Given the description of an element on the screen output the (x, y) to click on. 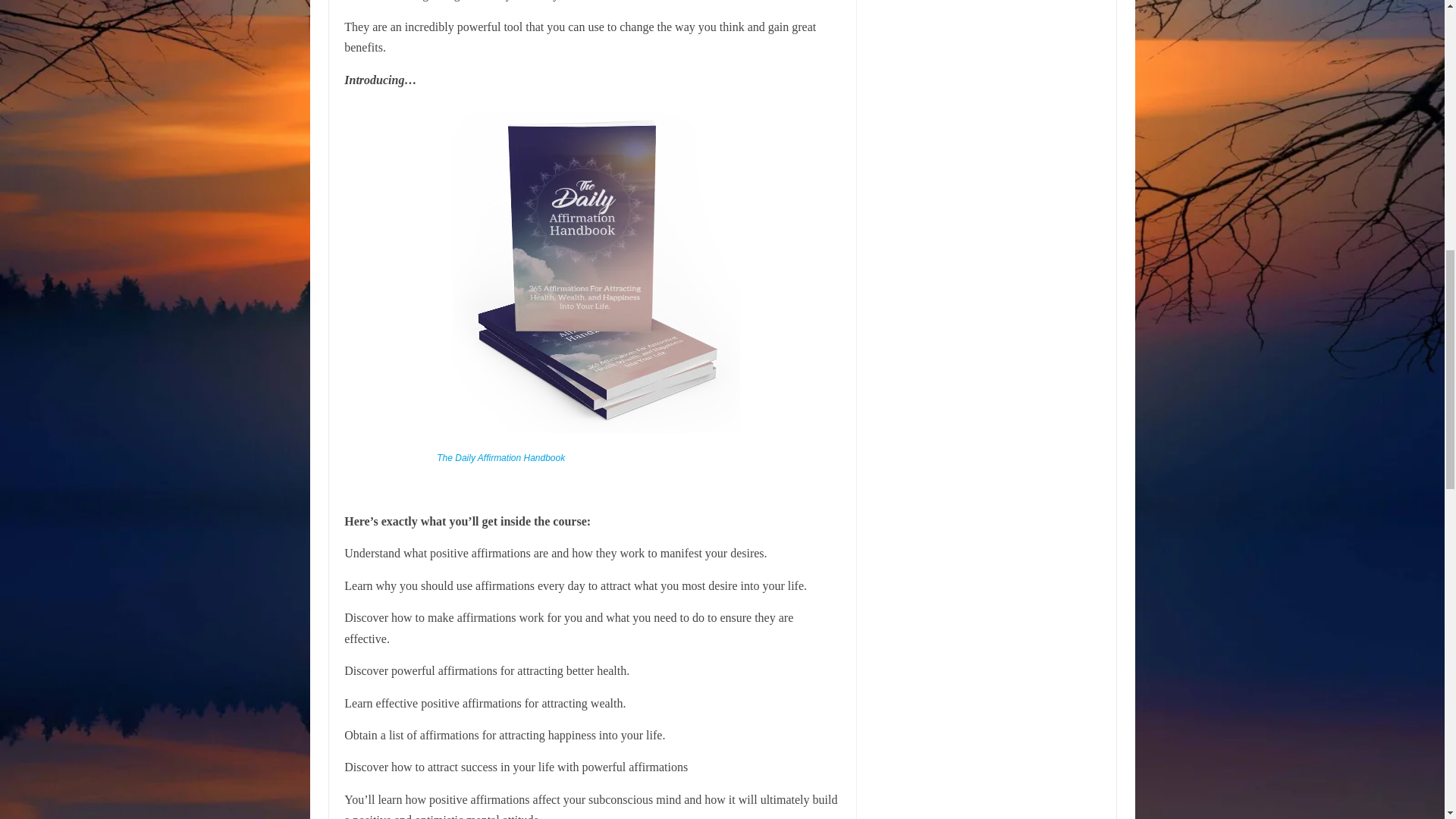
The Daily Affirmation Handbook Ebook (500, 457)
The Daily Affirmation Handbook (500, 457)
The Daily Affirmation Handbook Ebook (587, 439)
